Given the description of an element on the screen output the (x, y) to click on. 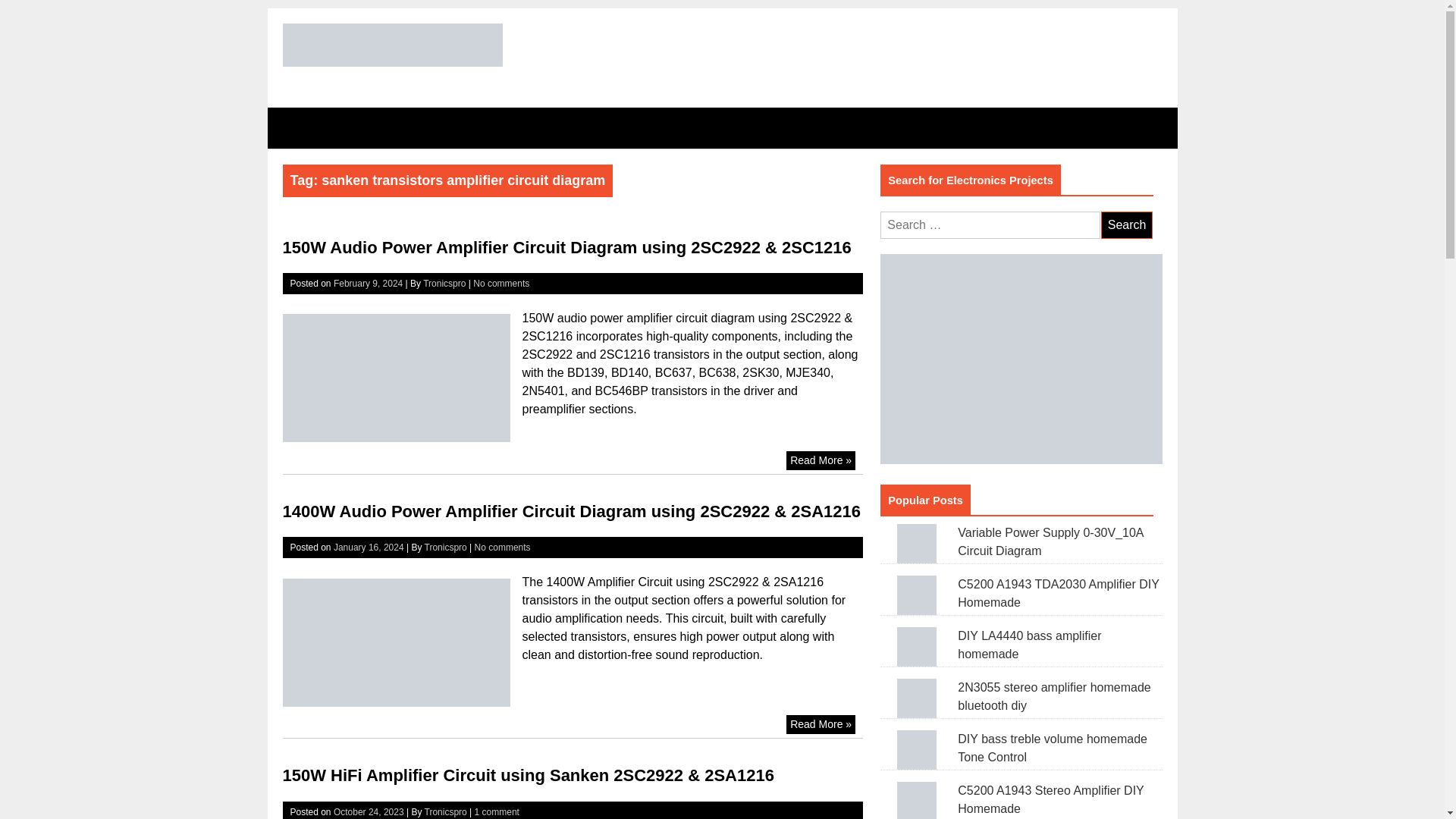
DIY bass treble volume homemade Tone Control (916, 749)
Tronicspro (446, 811)
Tronicspro (444, 283)
Tronicspro (446, 547)
C5200 A1943 Stereo Amplifier DIY Homemade (916, 800)
Tone Control (517, 127)
Home (303, 127)
No comments (502, 547)
October 24, 2023 (368, 811)
C5200 A1943 TDA2030 Amplifier DIY Homemade (916, 595)
